Given the description of an element on the screen output the (x, y) to click on. 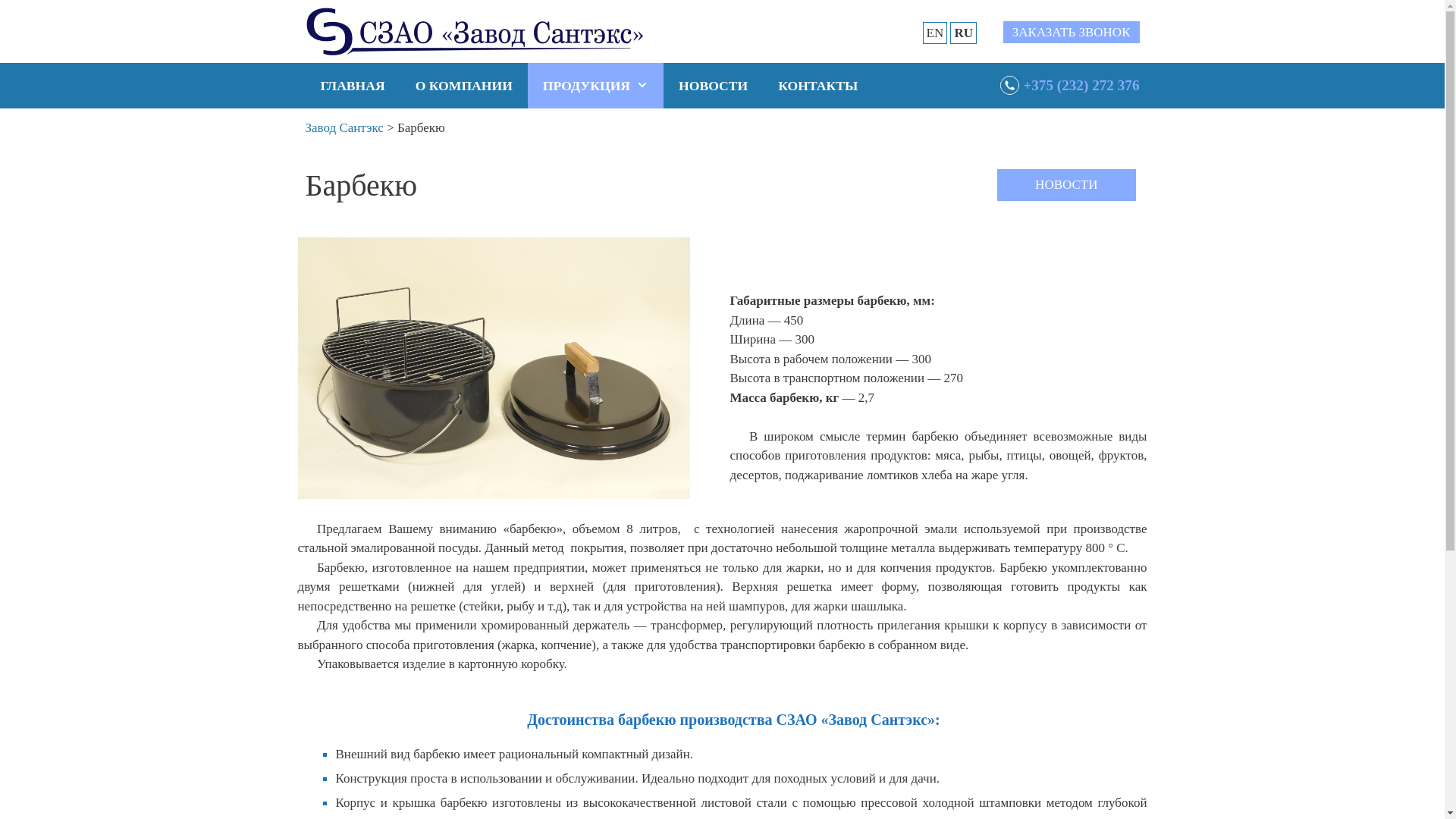
+375 (232) 272 376 Element type: text (1069, 85)
EN Element type: text (934, 32)
RU Element type: text (963, 32)
